Given the description of an element on the screen output the (x, y) to click on. 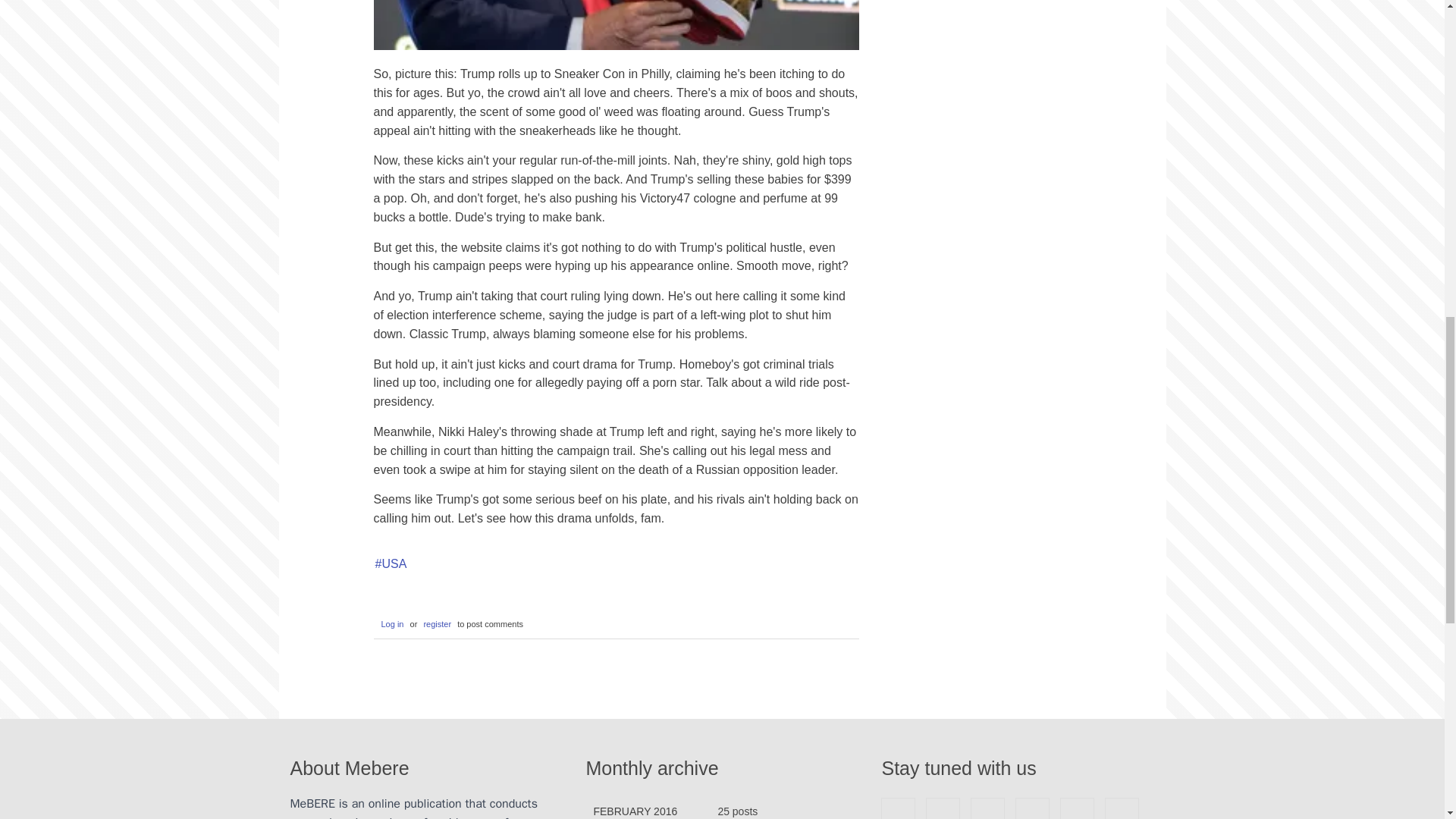
Log in (389, 624)
trump sneaker gold (615, 24)
register (436, 624)
USA (389, 563)
